Given the description of an element on the screen output the (x, y) to click on. 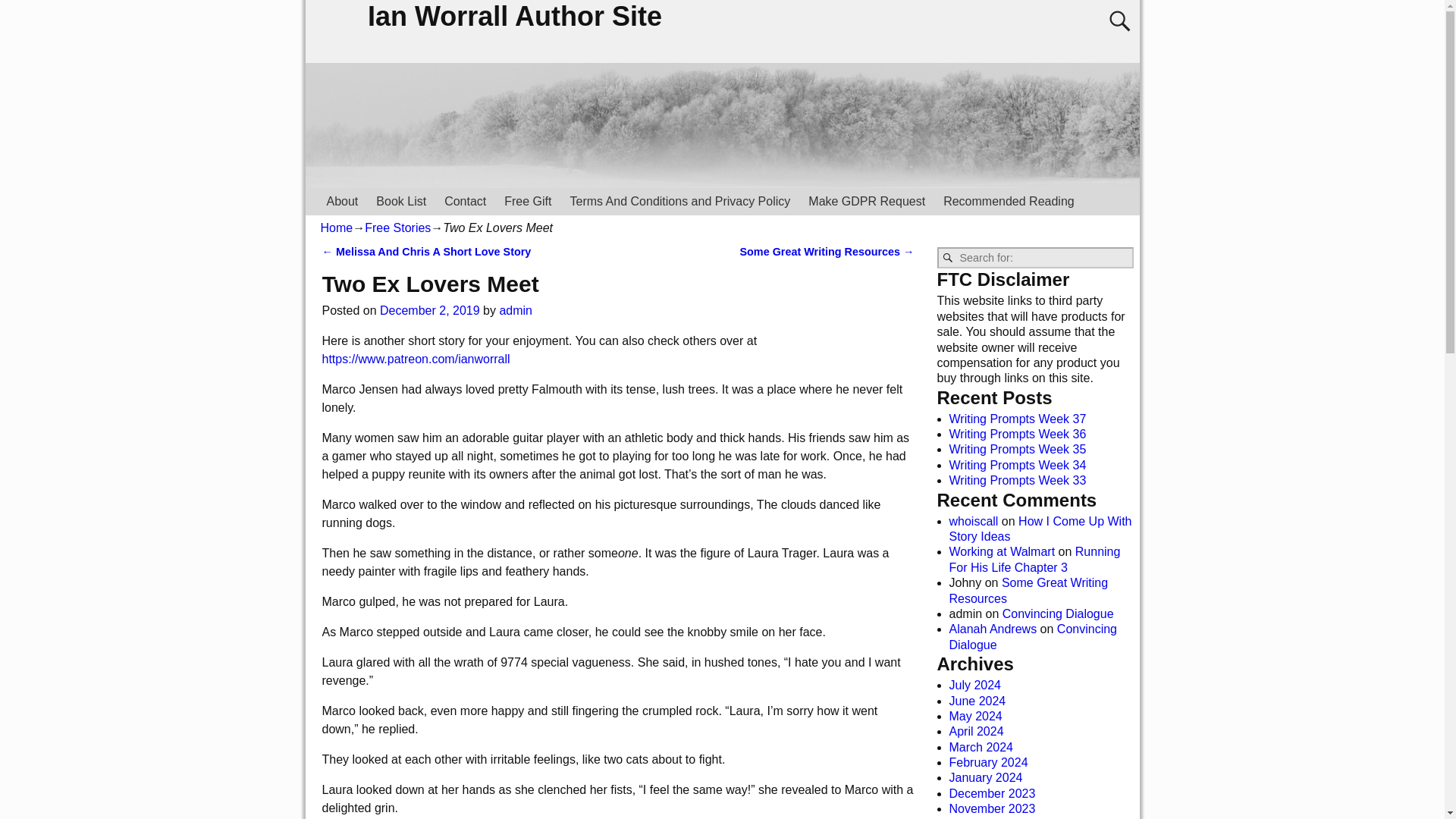
Make GDPR Request (866, 201)
Recommended Reading (1008, 201)
Working at Walmart (1002, 551)
Ian Worrall Author Site (515, 15)
How I Come Up With Story Ideas (1040, 528)
Book List (400, 201)
December 2, 2019 (430, 309)
Free Gift (527, 201)
Writing Prompts Week 33 (1017, 480)
Home (336, 227)
